Given the description of an element on the screen output the (x, y) to click on. 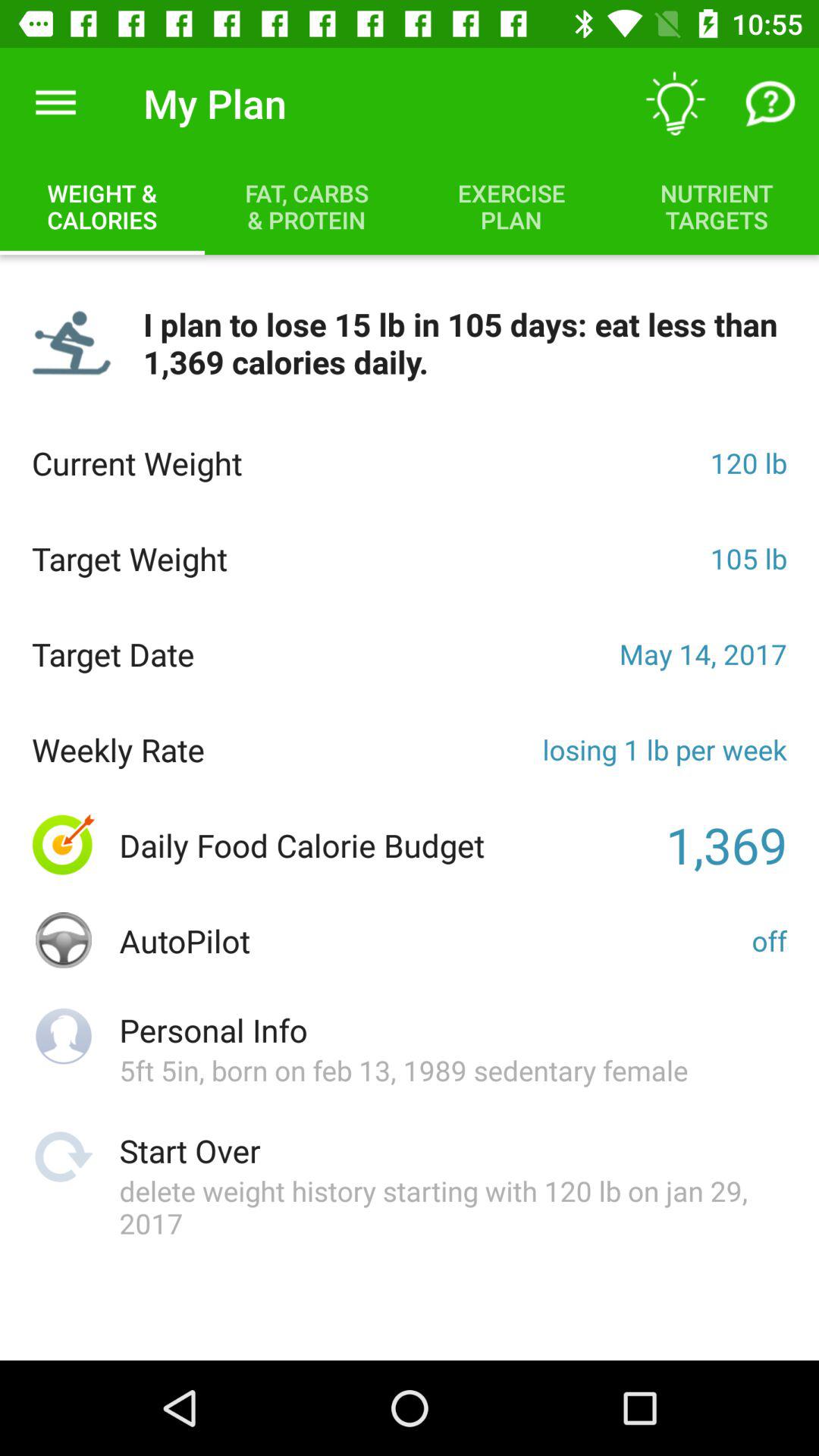
turn off the item next to the my plan (675, 103)
